Given the description of an element on the screen output the (x, y) to click on. 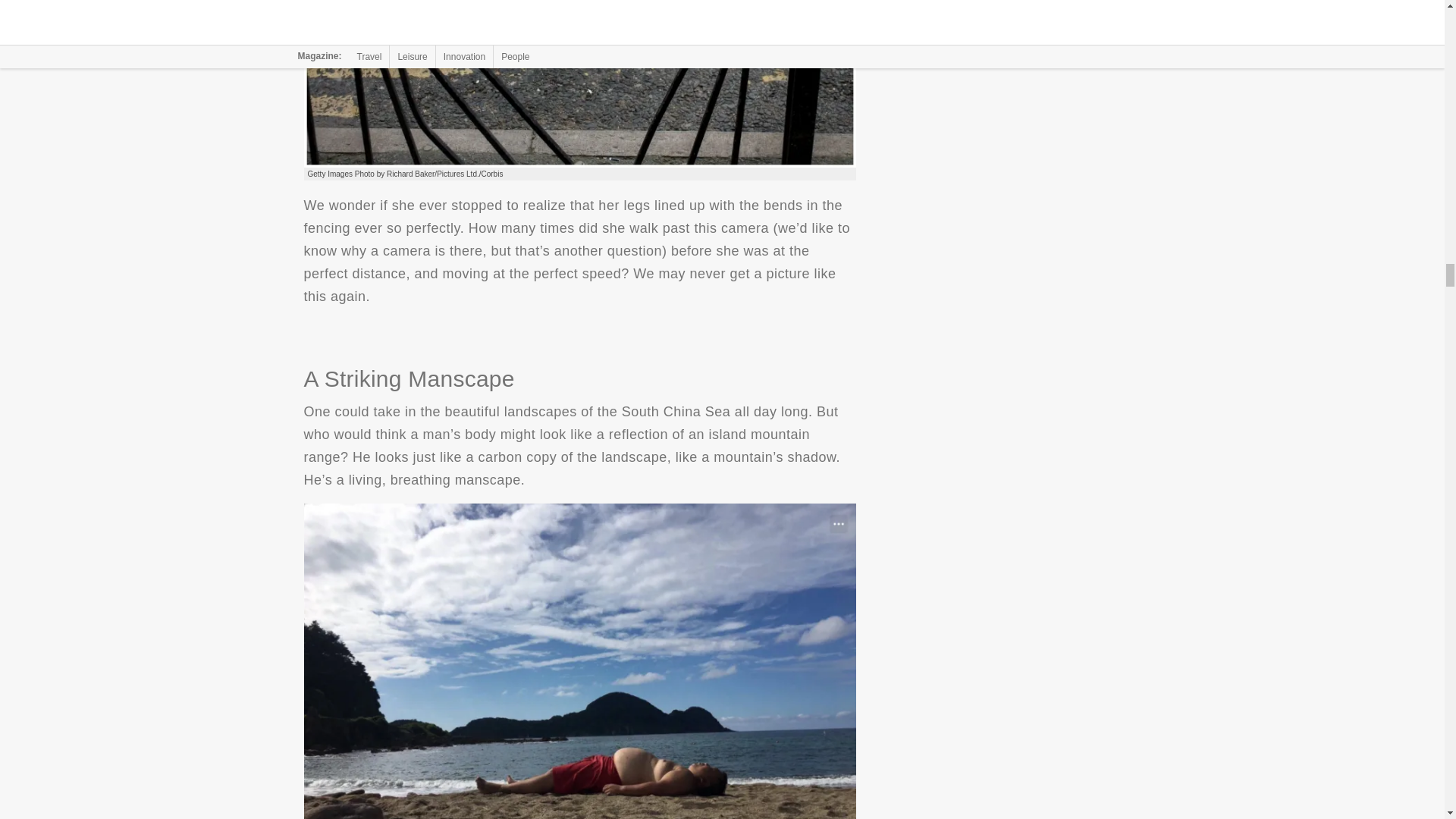
Such Power (579, 83)
